Given the description of an element on the screen output the (x, y) to click on. 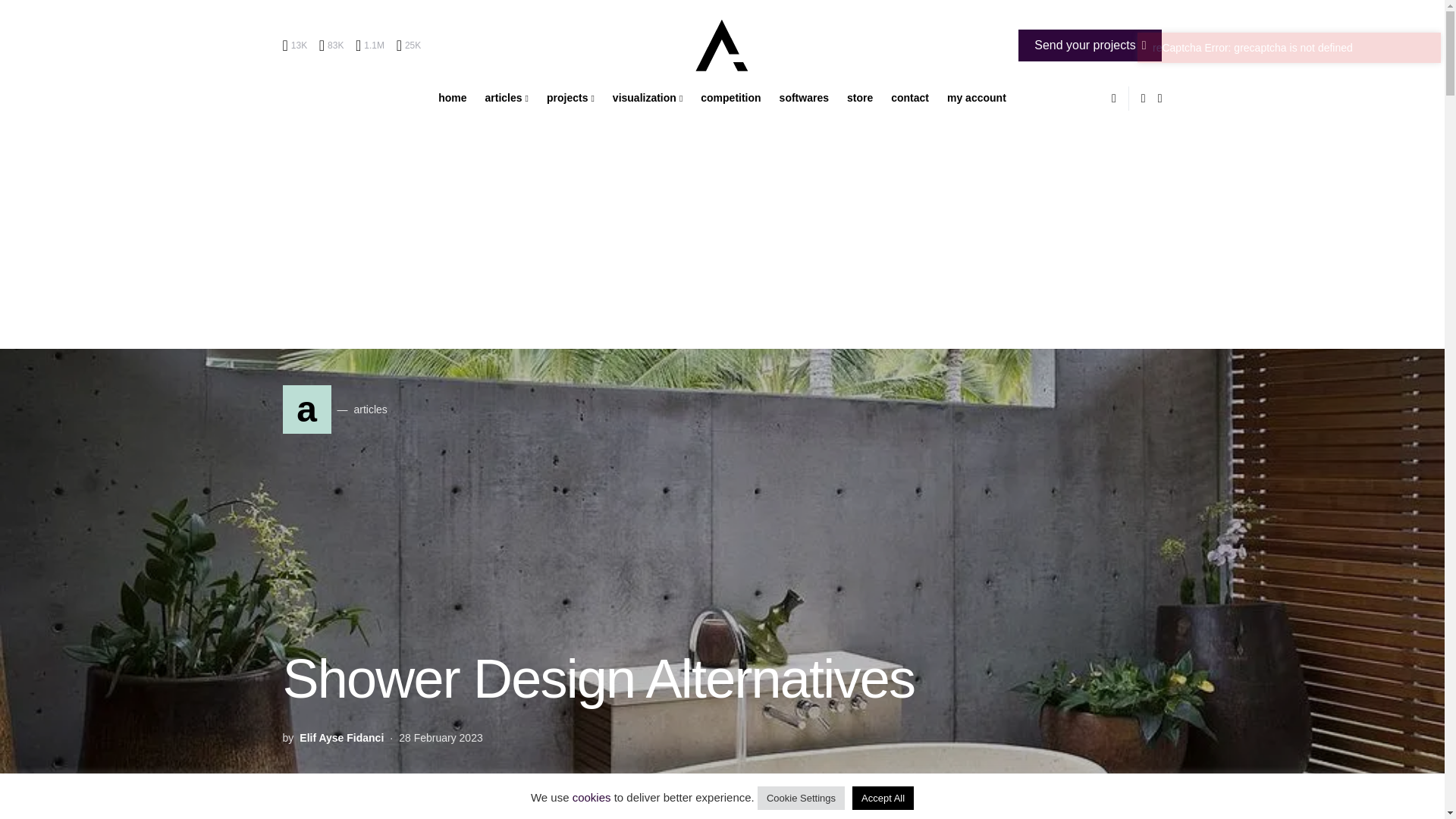
View all posts by Elif Ayse Fidanci (341, 737)
